Given the description of an element on the screen output the (x, y) to click on. 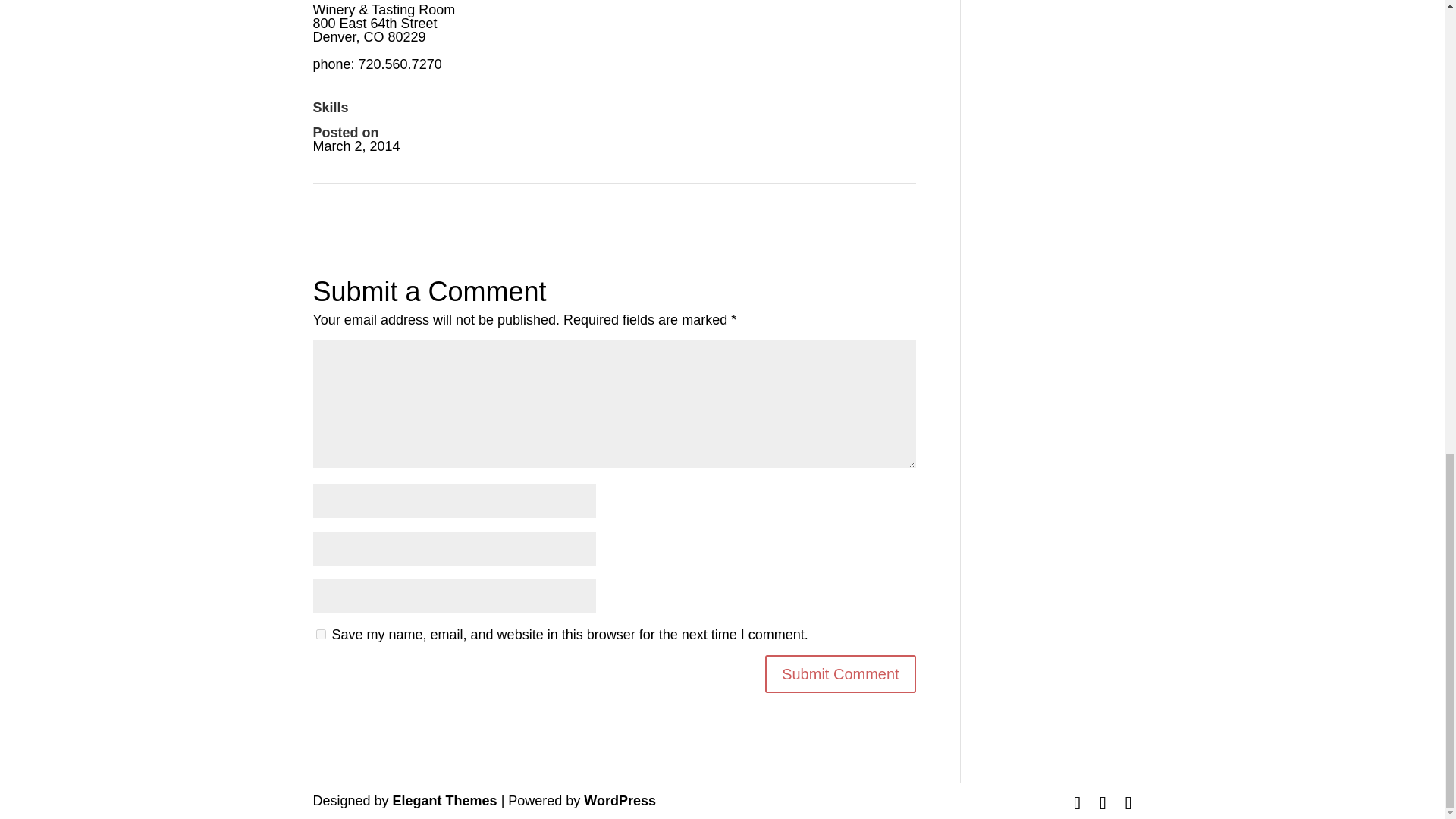
Premium WordPress Themes (445, 800)
yes (319, 634)
Submit Comment (840, 673)
Submit Comment (840, 673)
